Given the description of an element on the screen output the (x, y) to click on. 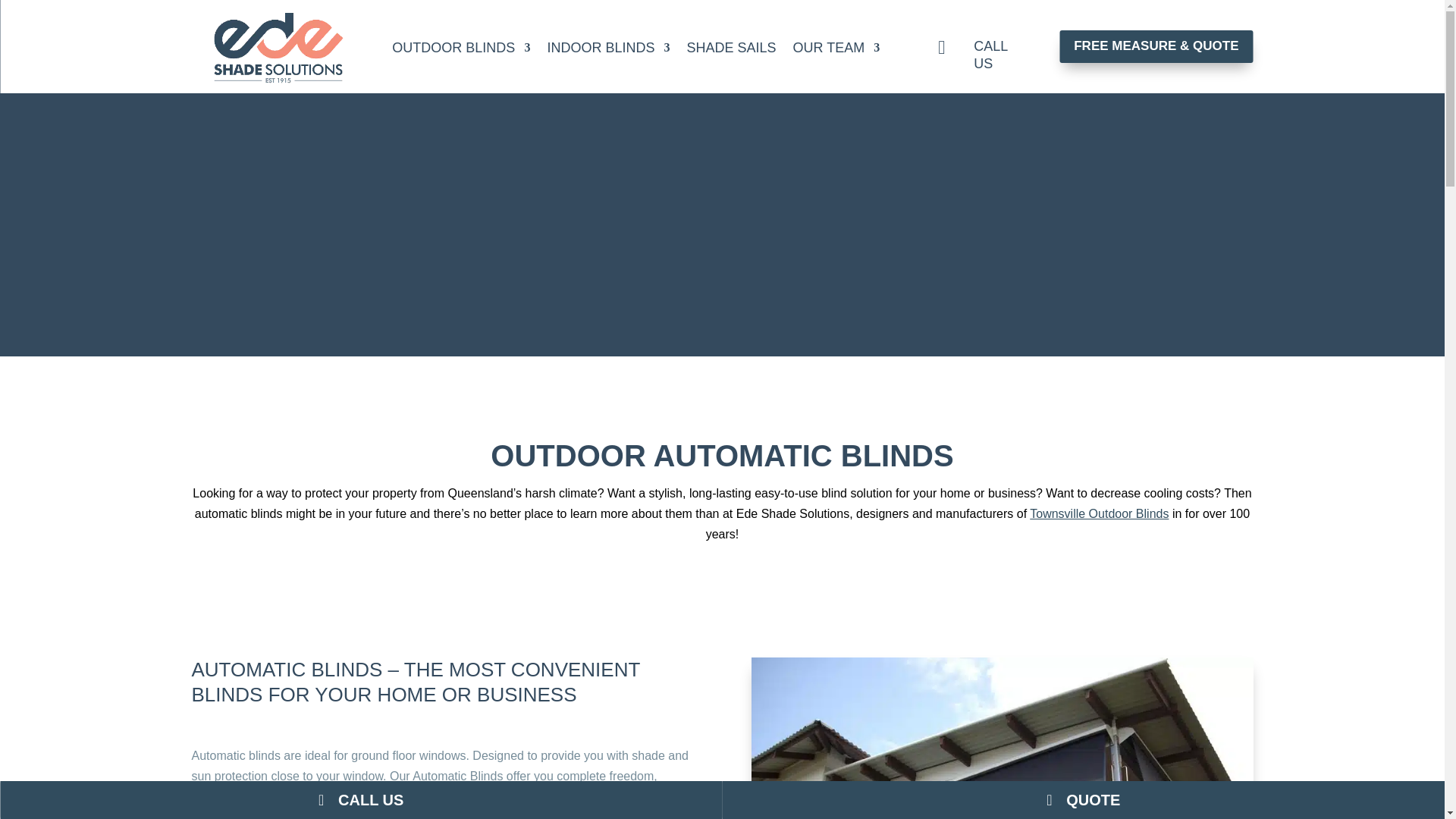
SHADE SAILS (730, 47)
OUTDOOR BLINDS (460, 47)
OUR TEAM (835, 47)
INDOOR BLINDS (608, 47)
Townsville Outdoor Blinds (1099, 513)
